Given the description of an element on the screen output the (x, y) to click on. 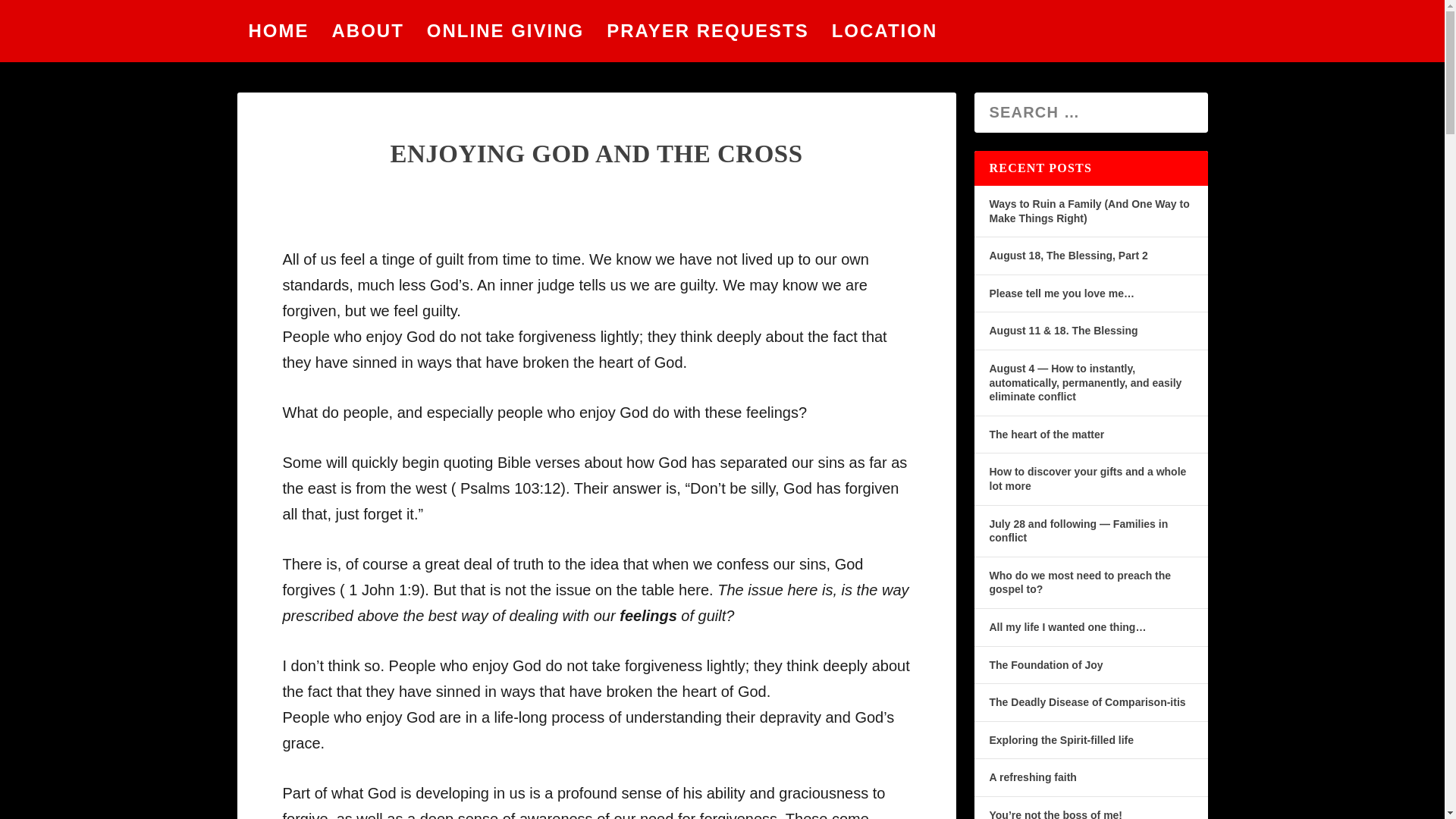
ABOUT (367, 31)
Search (40, 16)
The heart of the matter (1045, 434)
Exploring the Spirit-filled life (1061, 739)
The Deadly Disease of Comparison-itis (1086, 702)
August 18, The Blessing, Part 2 (1067, 255)
The Foundation of Joy (1045, 664)
A refreshing faith (1031, 776)
How to discover your gifts and a whole lot more (1087, 479)
HOME (278, 31)
